Given the description of an element on the screen output the (x, y) to click on. 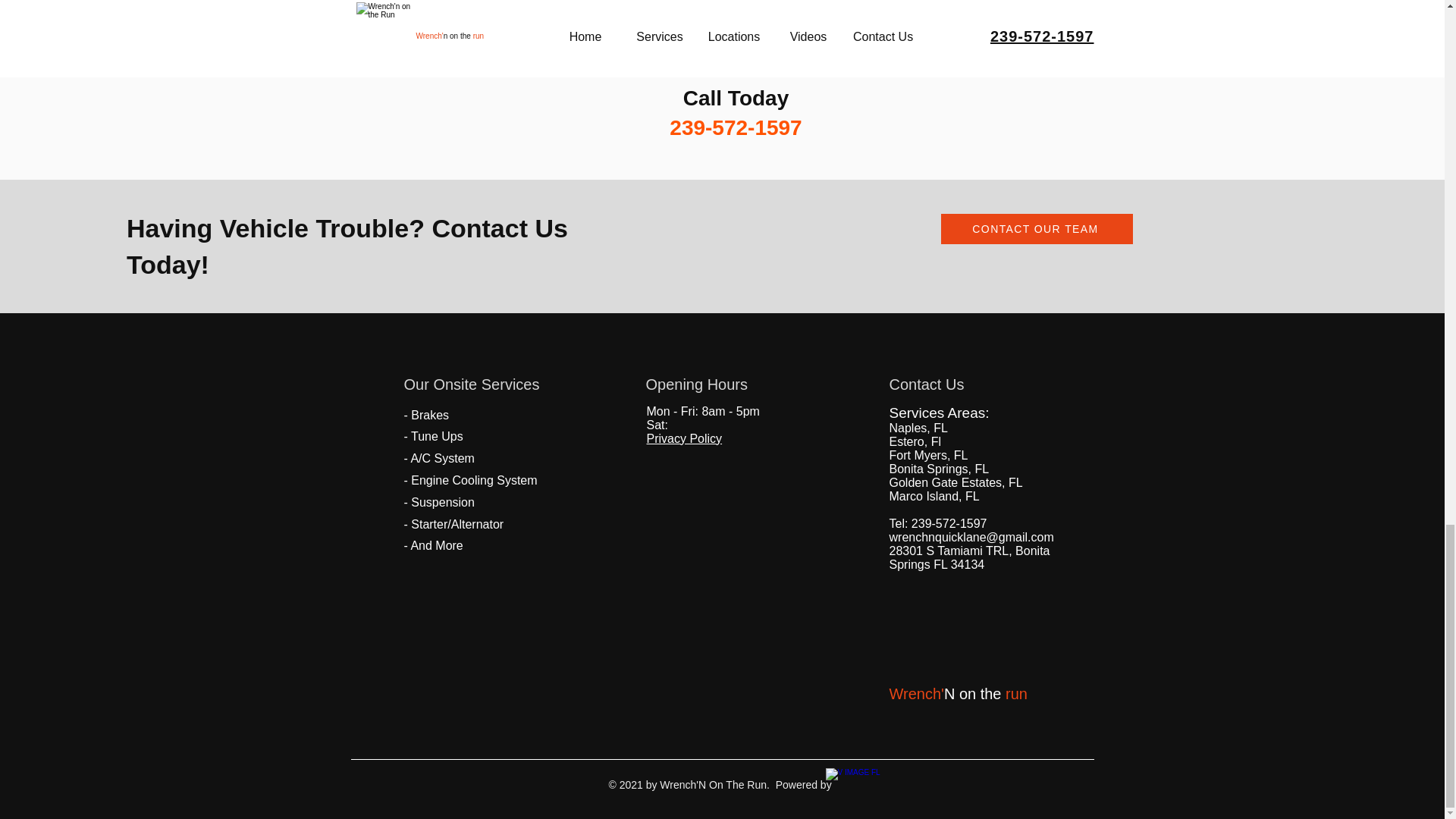
Privacy Policy (684, 438)
N on the run (985, 693)
CONTACT OUR TEAM (1036, 228)
Wrench' (915, 693)
